Given the description of an element on the screen output the (x, y) to click on. 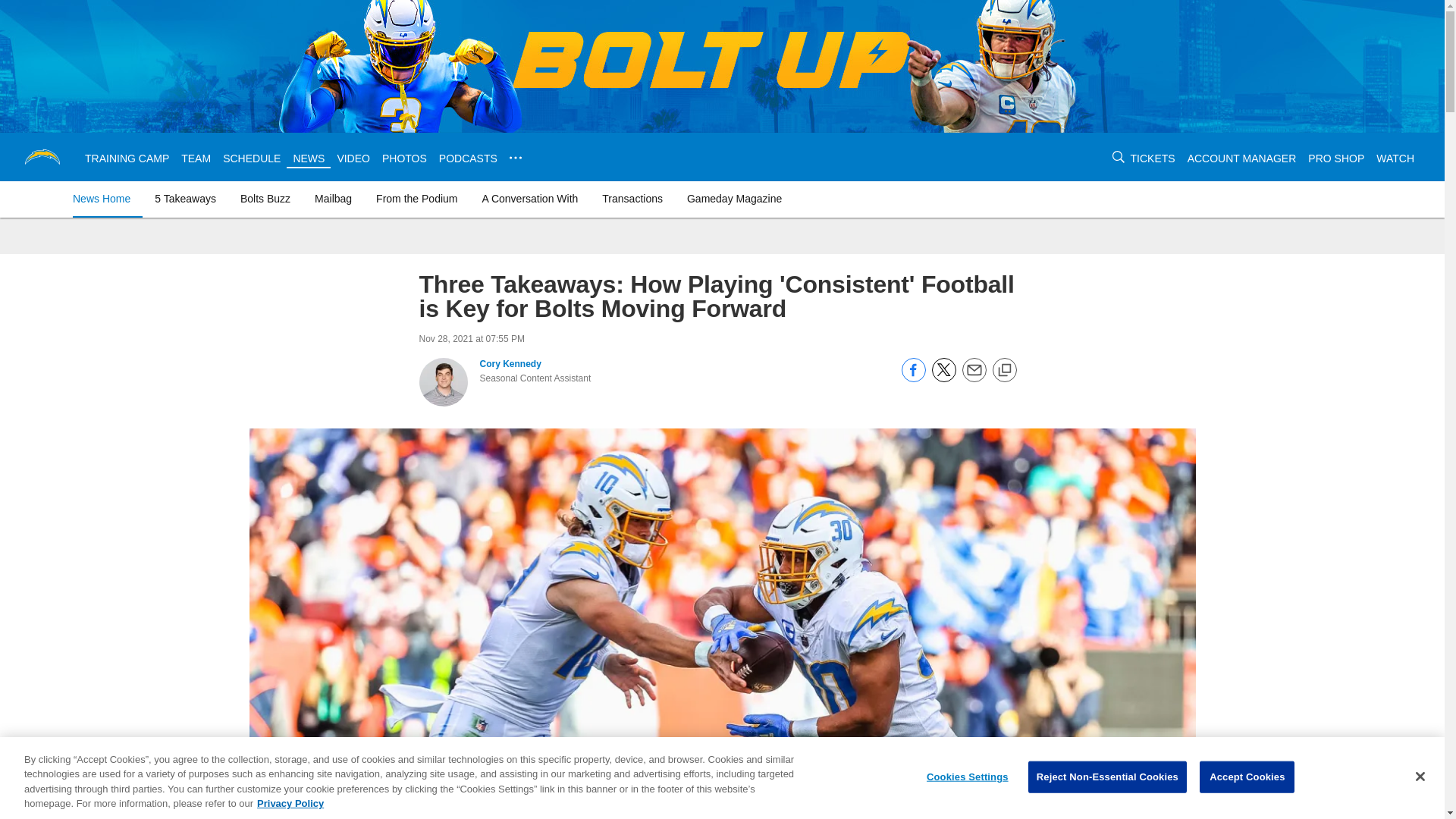
... (515, 157)
NEWS (308, 158)
PODCASTS (468, 158)
A Conversation With (529, 198)
Gameday Magazine (734, 198)
SCHEDULE (251, 158)
SCHEDULE (251, 158)
From the Podium (416, 198)
ACCOUNT MANAGER (1242, 158)
VIDEO (352, 158)
TEAM (195, 158)
PRO SHOP (1335, 158)
Mailbag (333, 198)
VIDEO (352, 158)
5 Takeaways (185, 198)
